Given the description of an element on the screen output the (x, y) to click on. 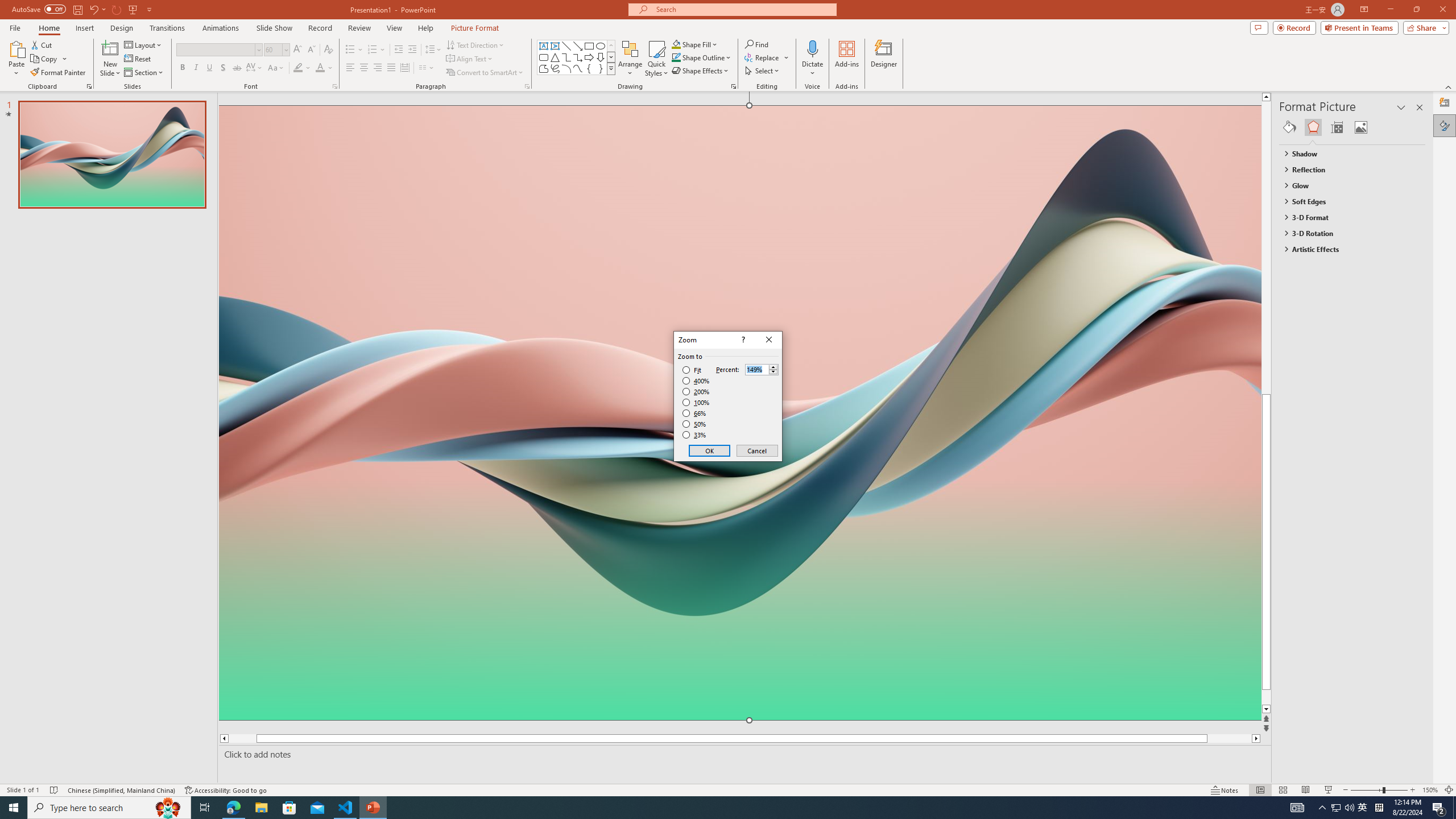
Start (13, 807)
Strikethrough (237, 67)
66% (694, 412)
Font (215, 49)
Align Text (470, 58)
Rectangle (589, 45)
Percent (756, 369)
Bullets (349, 49)
